Given the description of an element on the screen output the (x, y) to click on. 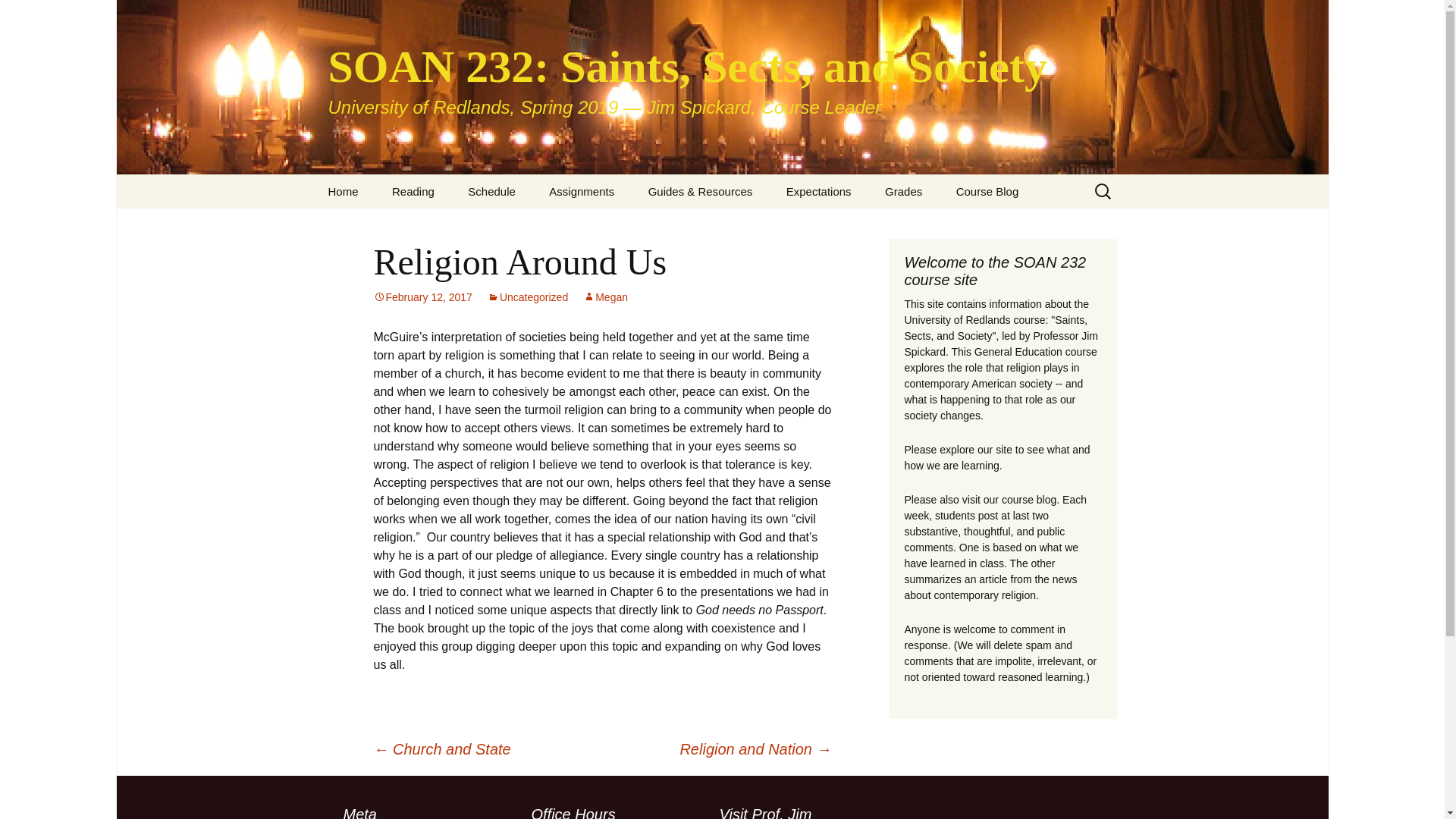
Search (18, 15)
Assignments (581, 191)
February 12, 2017 (421, 297)
Reading (413, 191)
View all posts by Megan (605, 297)
Course Blog (986, 191)
Expectations (818, 191)
Megan (605, 297)
Schedule (491, 191)
Grades (903, 191)
How I Grade Course Participation (945, 230)
Minor Writing (609, 225)
Books (452, 225)
Uncategorized (527, 297)
